Given the description of an element on the screen output the (x, y) to click on. 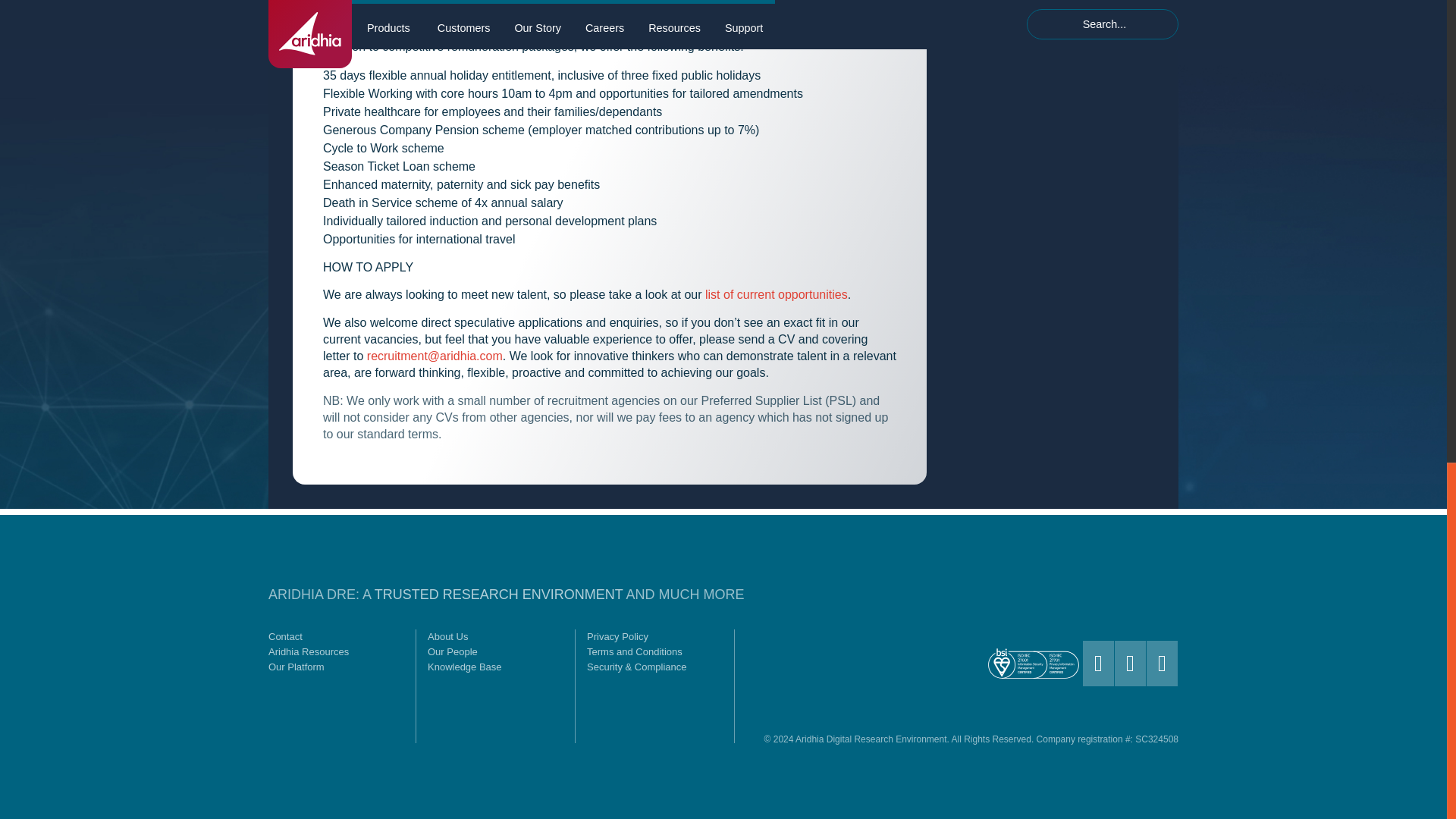
Our Platform (335, 667)
Contact (335, 636)
Our People (495, 652)
Knowledge Base (495, 667)
About Us (495, 636)
TRUSTED RESEARCH ENVIRONMENT (498, 594)
Aridhia Resources (335, 652)
list of current opportunities (775, 294)
